Given the description of an element on the screen output the (x, y) to click on. 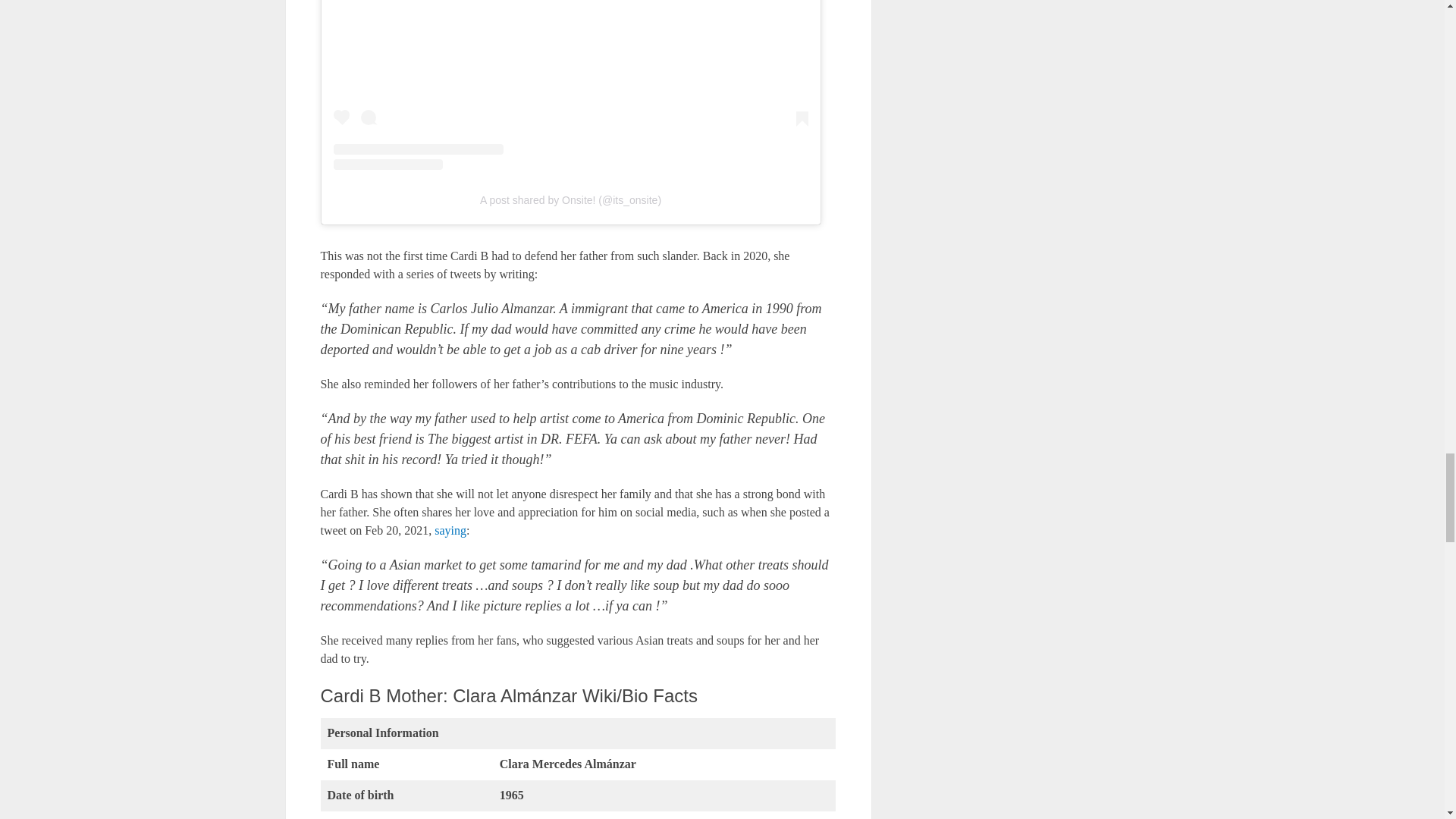
View this post on Instagram (570, 84)
saying (447, 530)
